Given the description of an element on the screen output the (x, y) to click on. 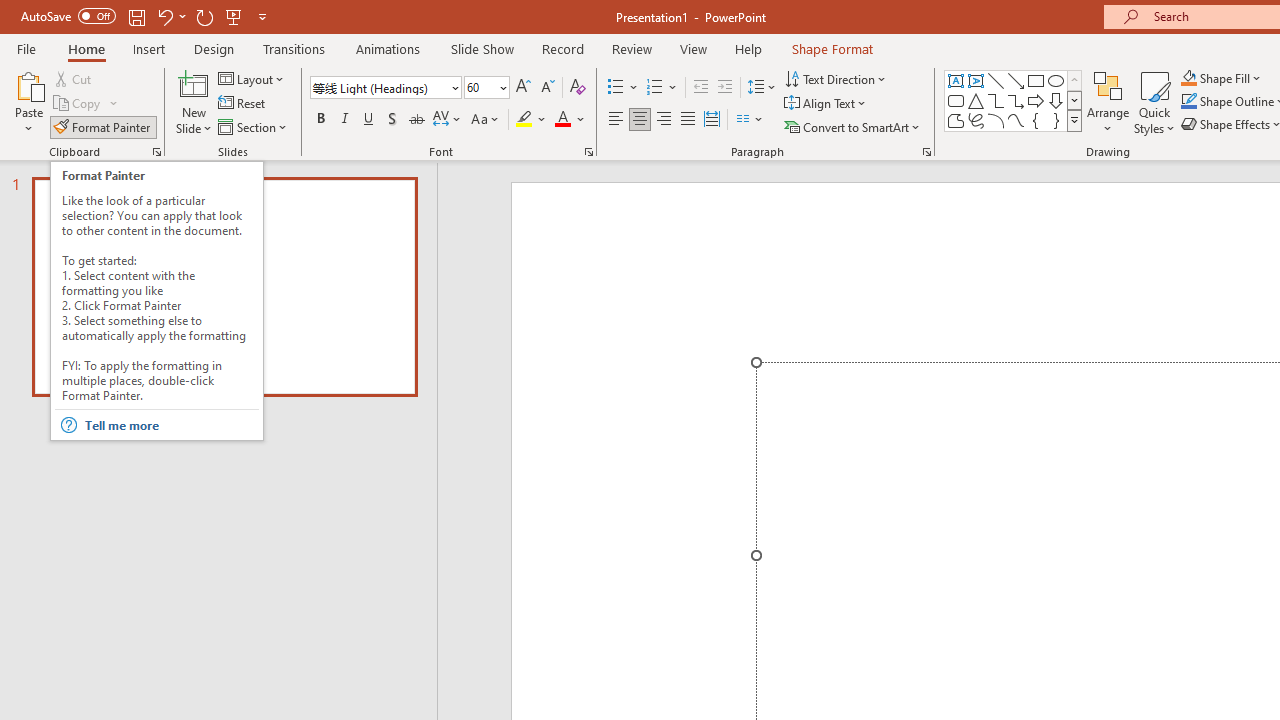
Font Size (480, 87)
File Tab (26, 48)
Freeform: Shape (955, 120)
Cut (73, 78)
Row Down (1074, 100)
Customize Quick Access Toolbar (262, 15)
System (10, 11)
New Slide (193, 84)
Bullets (616, 87)
Animations (388, 48)
Font Size (486, 87)
Align Right (663, 119)
Font Color (569, 119)
Decrease Indent (700, 87)
Freeform: Scribble (975, 120)
